Given the description of an element on the screen output the (x, y) to click on. 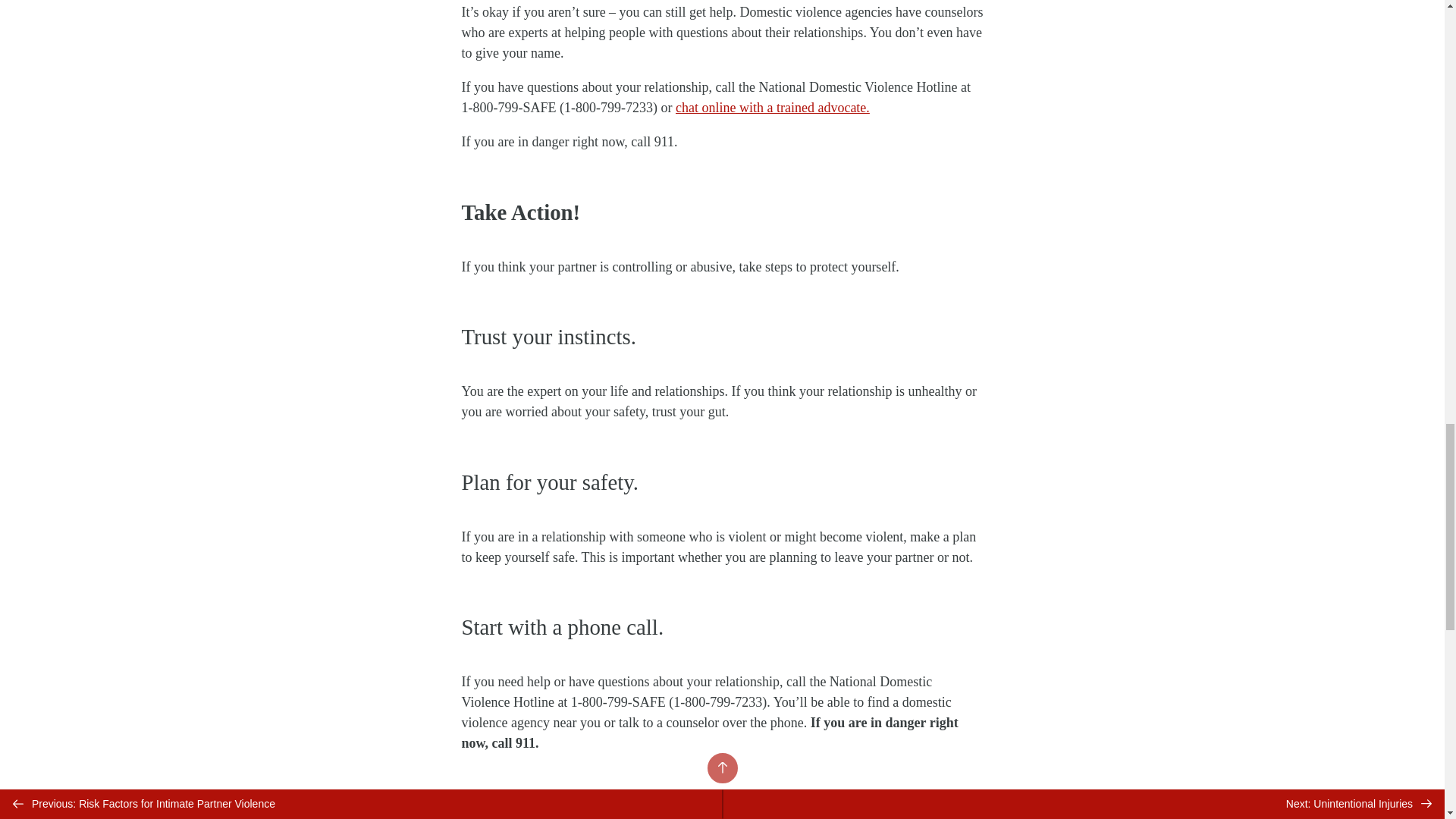
chat online with a trained advocate. (772, 107)
